Given the description of an element on the screen output the (x, y) to click on. 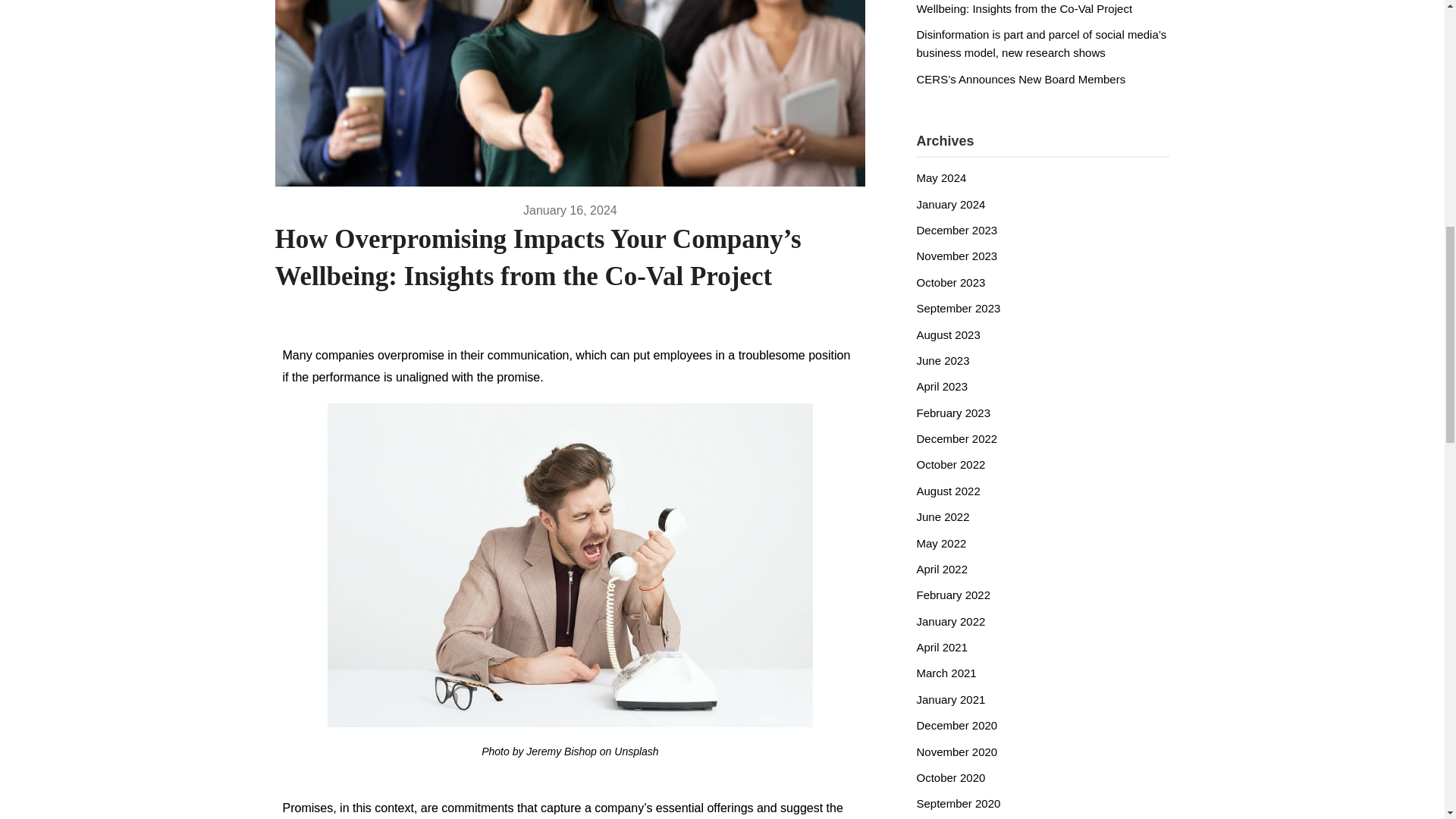
Unsplash (636, 751)
February 2023 (952, 412)
January 2024 (950, 204)
August 2023 (947, 334)
April 2021 (941, 646)
June 2022 (942, 516)
April 2022 (941, 568)
December 2020 (956, 725)
June 2023 (942, 359)
May 2022 (940, 543)
